Given the description of an element on the screen output the (x, y) to click on. 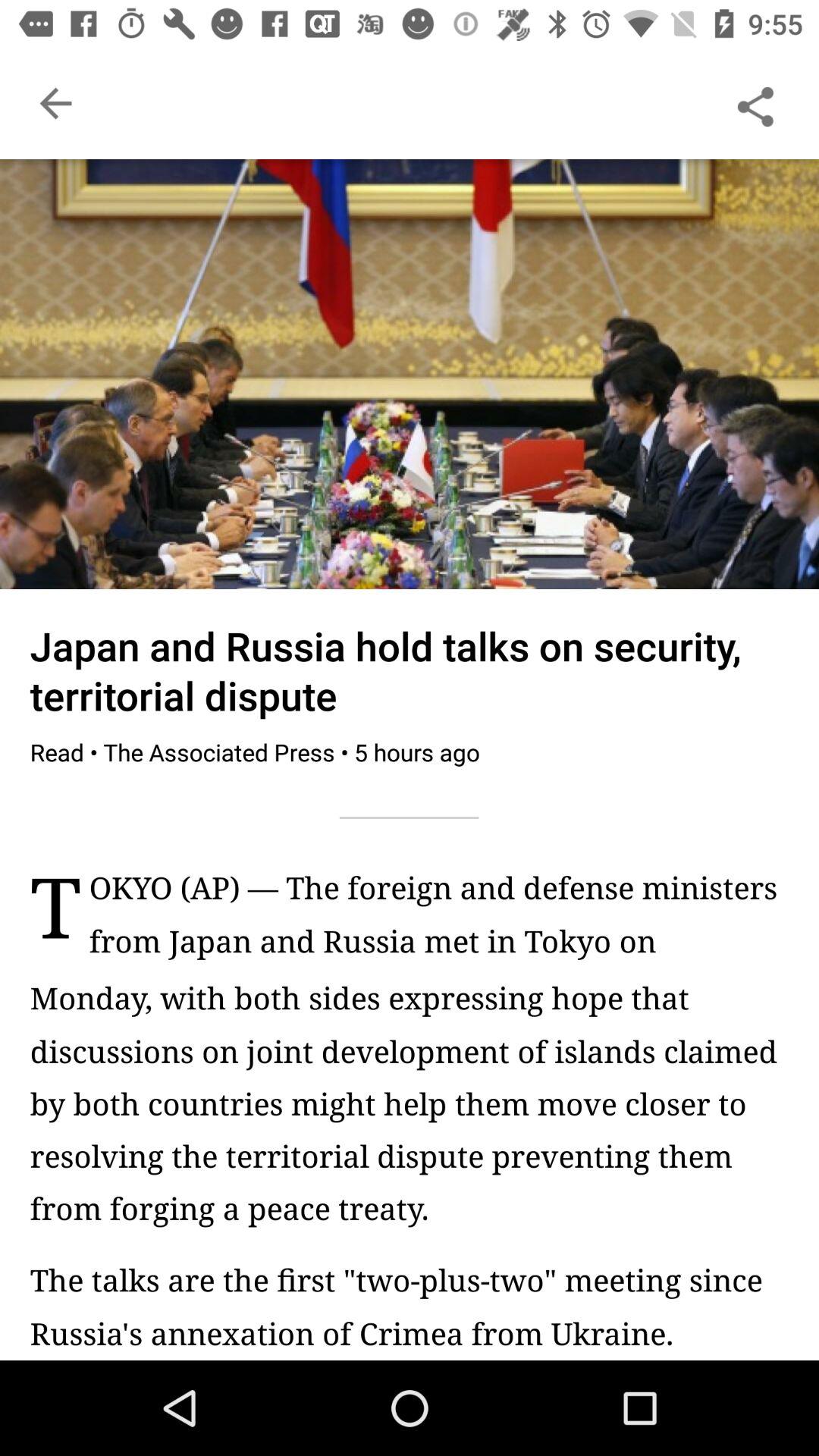
share article (755, 103)
